Given the description of an element on the screen output the (x, y) to click on. 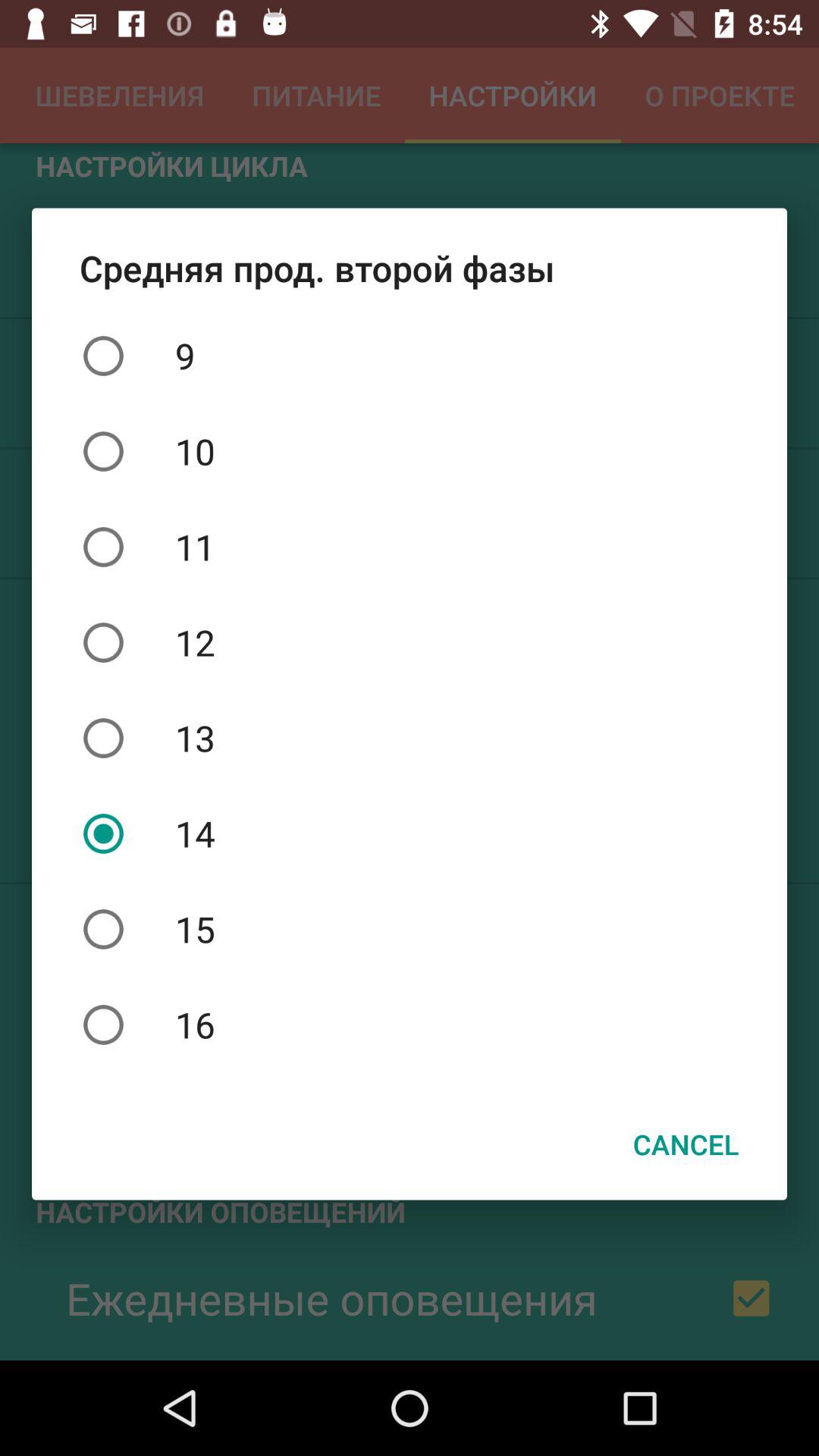
press the item above 11 item (409, 451)
